Given the description of an element on the screen output the (x, y) to click on. 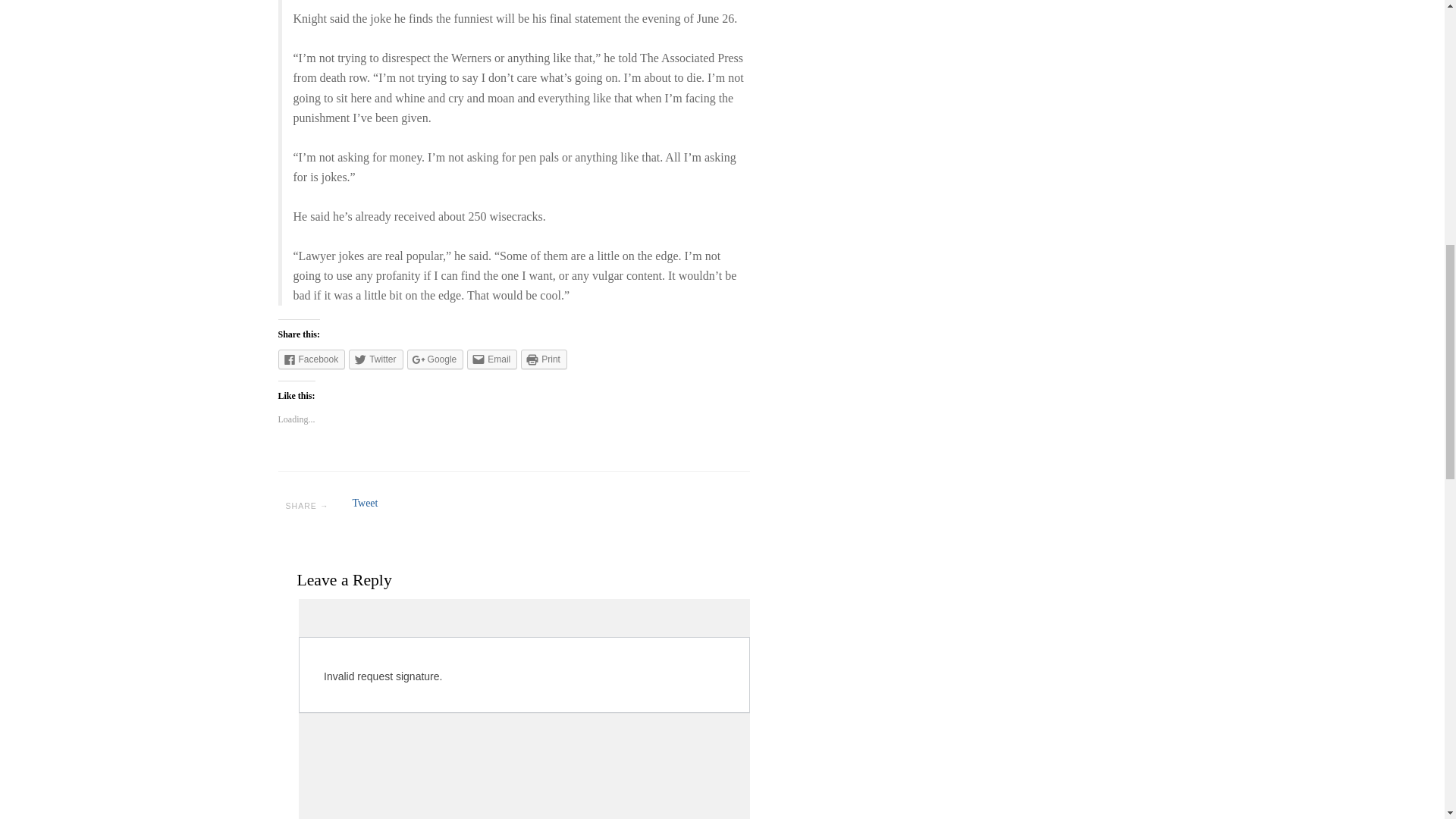
Click to email this to a friend (491, 359)
Google (435, 359)
Tweet (364, 502)
Comment Form (523, 708)
Twitter (376, 359)
Email (491, 359)
Click to share on Facebook (311, 359)
Click to print (544, 359)
Print (544, 359)
Facebook (311, 359)
Click to share on Twitter (376, 359)
